Given the description of an element on the screen output the (x, y) to click on. 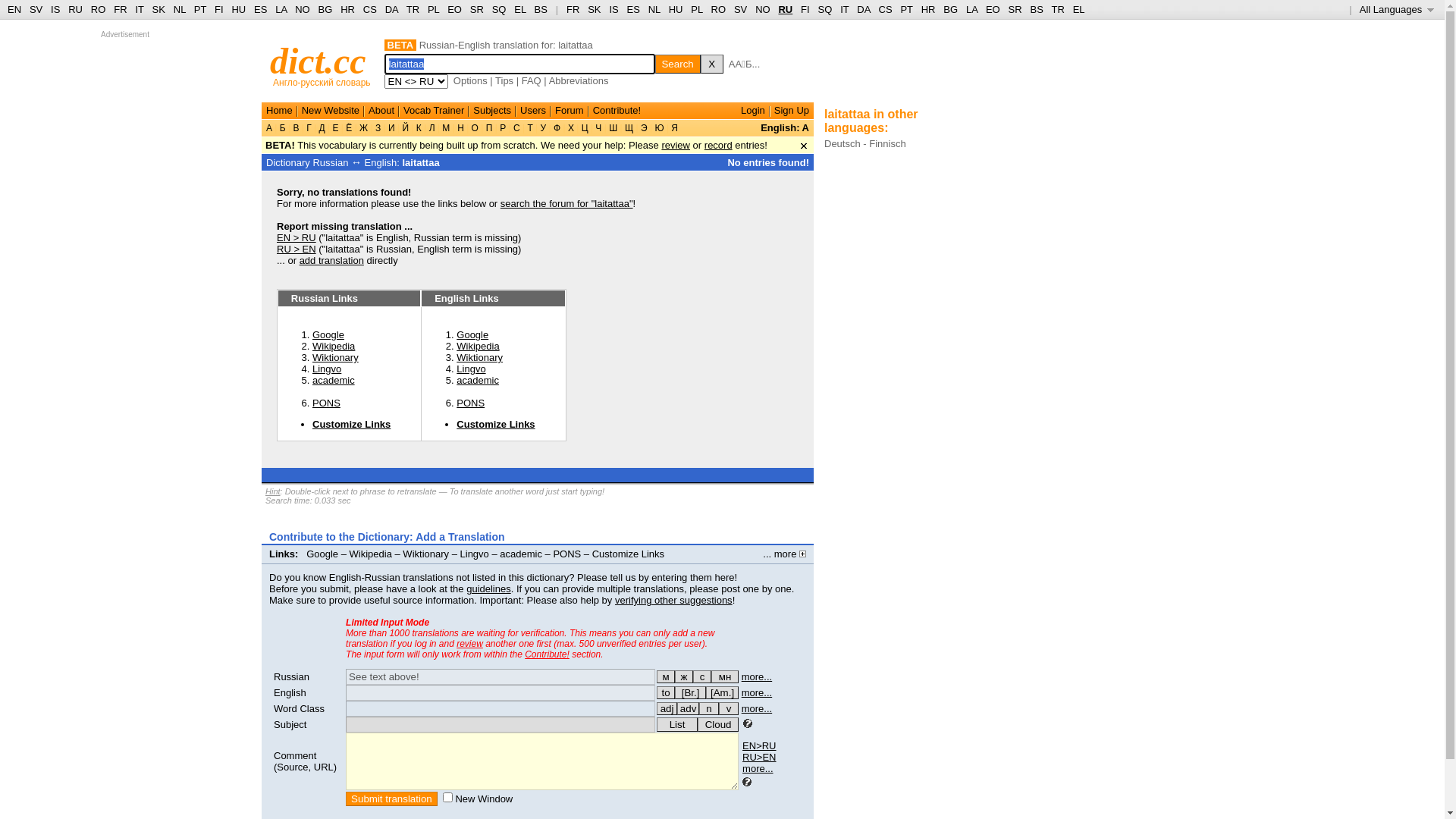
TR Element type: text (412, 9)
BG Element type: text (950, 9)
adv Element type: text (688, 708)
Contribute! Element type: text (546, 654)
more... Element type: text (757, 768)
v Element type: text (728, 708)
Home Element type: text (279, 110)
Lingvo Element type: text (326, 368)
EN>RU Element type: text (758, 745)
Search Element type: text (677, 63)
BS Element type: text (540, 9)
NL Element type: text (654, 9)
SK Element type: text (158, 9)
SV Element type: text (35, 9)
(esp.) British English Element type: hover (690, 692)
[Br.] Element type: text (690, 692)
adj Element type: text (666, 708)
more... Element type: text (756, 692)
more... Element type: text (756, 676)
RU Element type: text (785, 9)
NO Element type: text (762, 9)
SV Element type: text (740, 9)
IS Element type: text (613, 9)
... more Element type: text (784, 553)
Wikipedia Element type: text (333, 345)
record Element type: text (718, 144)
Wiktionary Element type: text (335, 357)
Users Element type: text (533, 110)
DA Element type: text (391, 9)
add translation Element type: text (331, 260)
BG Element type: text (325, 9)
English Element type: text (289, 692)
Options Element type: text (470, 80)
EL Element type: text (1079, 9)
FAQ Element type: text (531, 80)
PL Element type: text (696, 9)
DA Element type: text (862, 9)
HR Element type: text (928, 9)
EO Element type: text (992, 9)
English: A Element type: text (784, 127)
RU>EN Element type: text (758, 756)
NL Element type: text (179, 9)
search the forum for "laitattaa" Element type: text (566, 203)
NO Element type: text (302, 9)
Dictionary Element type: text (288, 162)
PT Element type: text (200, 9)
n Element type: text (708, 708)
HU Element type: text (238, 9)
FI Element type: text (804, 9)
CS Element type: text (369, 9)
Hint Element type: text (272, 490)
FR Element type: text (119, 9)
guidelines Element type: text (488, 588)
Wiktionary Element type: text (425, 553)
to Element type: text (665, 692)
RO Element type: text (98, 9)
LA Element type: text (280, 9)
Contribute to the Dictionary: Add a Translation Element type: text (387, 536)
BS Element type: text (1035, 9)
RU > EN Element type: text (296, 248)
laitattaa Element type: text (420, 162)
FI Element type: text (218, 9)
RO Element type: text (718, 9)
RU Element type: text (75, 9)
PT Element type: text (906, 9)
Lingvo Element type: text (470, 368)
EN > RU Element type: text (296, 237)
review Element type: text (675, 144)
Tips Element type: text (504, 80)
Customize Links Element type: text (351, 423)
SK Element type: text (593, 9)
TR Element type: text (1057, 9)
SQ Element type: text (824, 9)
Russian Element type: text (291, 676)
IS Element type: text (54, 9)
CS Element type: text (884, 9)
review Element type: text (469, 643)
Google Element type: text (328, 334)
Subjects Element type: text (492, 110)
(esp.) American English Element type: hover (722, 692)
PONS Element type: text (470, 402)
Forum Element type: text (569, 110)
[Am.] Element type: text (722, 692)
ES Element type: text (260, 9)
PONS Element type: text (566, 553)
Lingvo Element type: text (474, 553)
for verbs Element type: hover (665, 692)
All Languages  Element type: text (1396, 9)
PONS Element type: text (326, 402)
List Element type: text (676, 724)
Google Element type: text (472, 334)
Customize Links Element type: text (628, 553)
Contribute! Element type: text (617, 110)
IT Element type: text (138, 9)
Abbreviations Element type: text (578, 80)
SR Element type: text (1015, 9)
Login Element type: text (752, 110)
EL Element type: text (519, 9)
Cloud Element type: text (717, 724)
EN Element type: text (14, 9)
EO Element type: text (454, 9)
SQ Element type: text (499, 9)
verifying other suggestions Element type: text (673, 599)
About Element type: text (381, 110)
LA Element type: text (971, 9)
SR Element type: text (476, 9)
academic Element type: text (477, 379)
Sign Up Element type: text (791, 110)
FR Element type: text (572, 9)
dict.cc Element type: text (317, 60)
Submit translation Element type: text (391, 798)
academic Element type: text (333, 379)
academic Element type: text (520, 553)
HU Element type: text (675, 9)
ES Element type: text (633, 9)
Vocab Trainer Element type: text (433, 110)
Deutsch - Finnisch Element type: text (865, 143)
X Element type: text (711, 63)
Wiktionary Element type: text (479, 357)
Wikipedia Element type: text (477, 345)
New Website Element type: text (330, 110)
Customize Links Element type: text (495, 423)
Google Element type: text (322, 553)
more... Element type: text (756, 708)
PL Element type: text (433, 9)
IT Element type: text (844, 9)
Wikipedia Element type: text (370, 553)
HR Element type: text (347, 9)
